Given the description of an element on the screen output the (x, y) to click on. 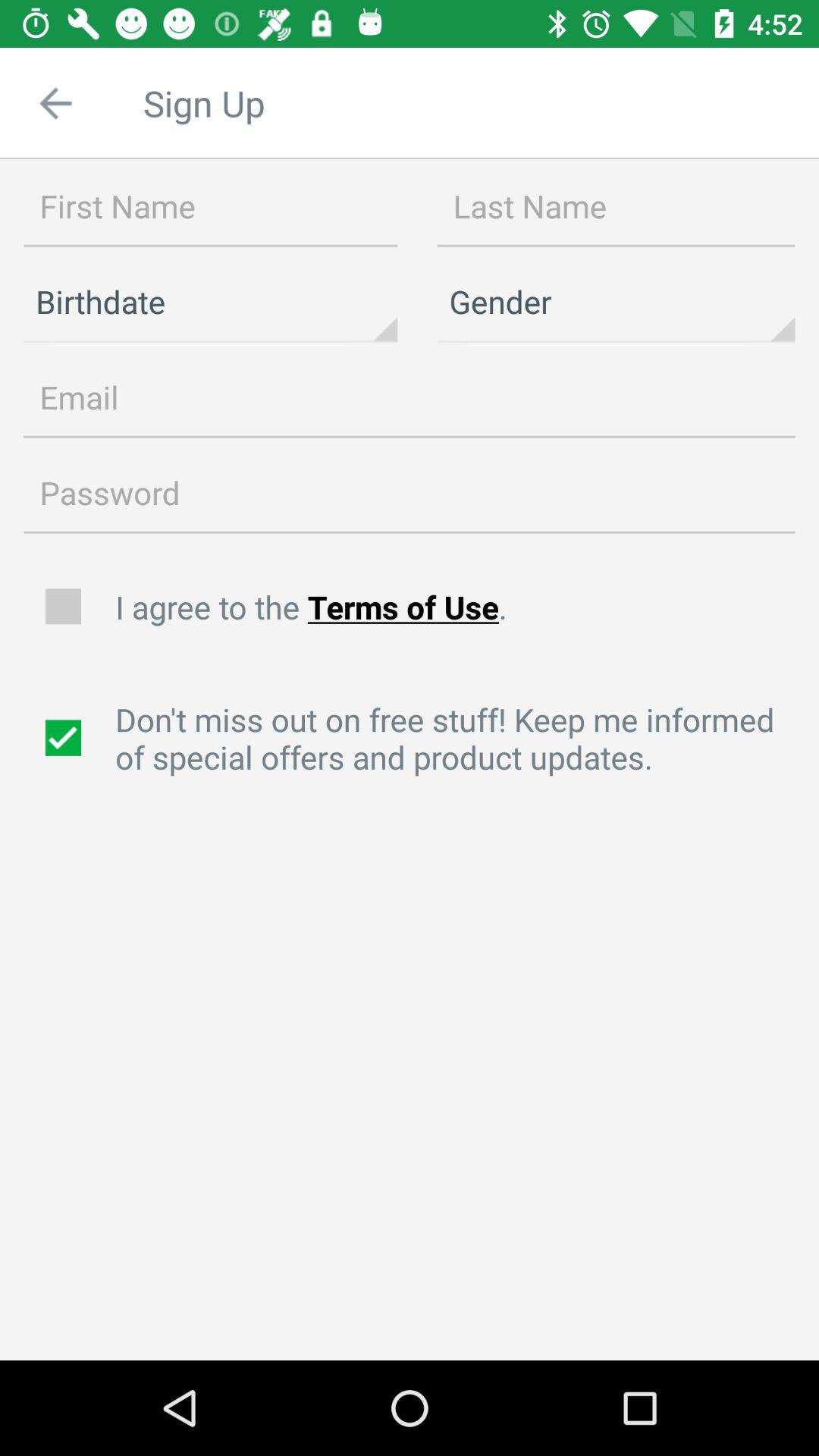
check the agree box (65, 606)
